Given the description of an element on the screen output the (x, y) to click on. 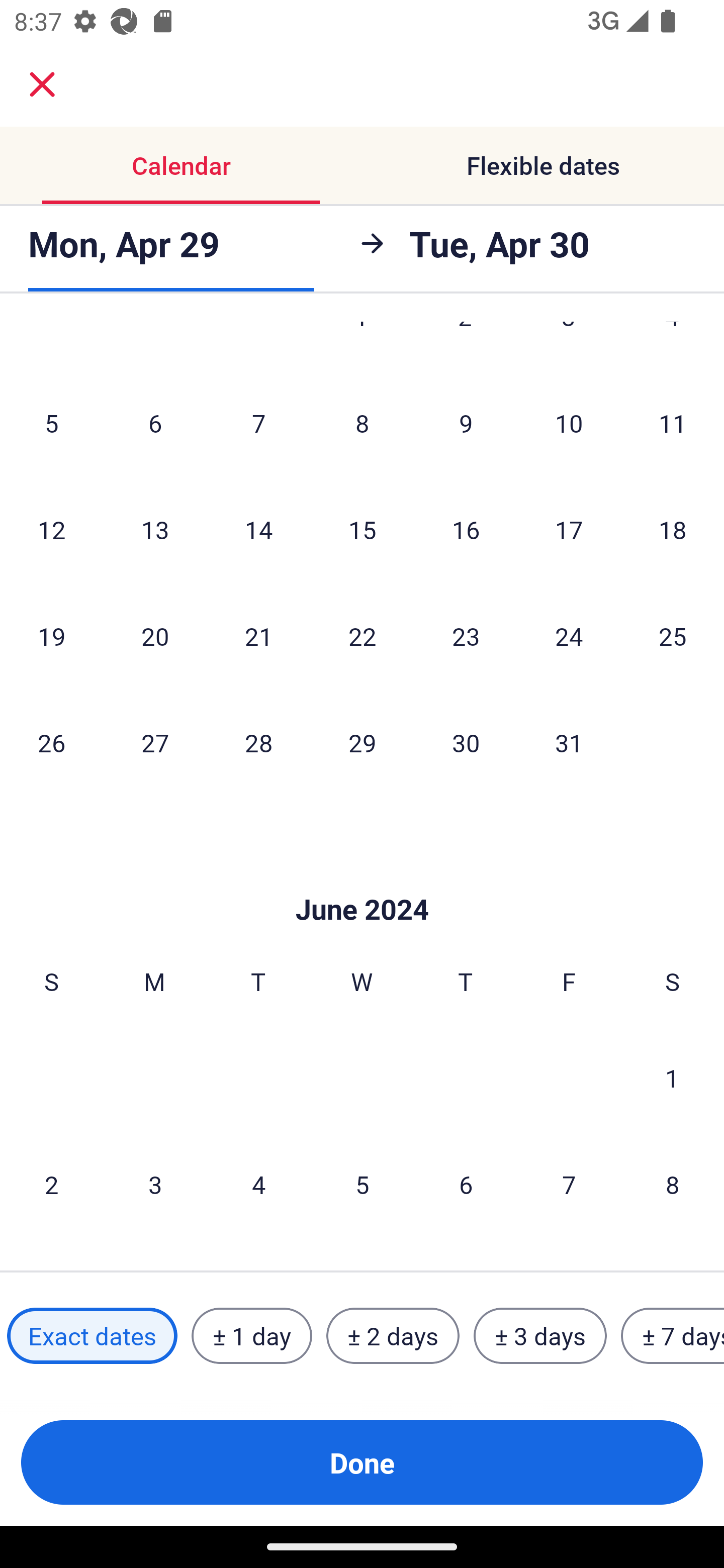
close. (42, 84)
Flexible dates (542, 164)
5 Sunday, May 5, 2024 (51, 423)
6 Monday, May 6, 2024 (155, 423)
7 Tuesday, May 7, 2024 (258, 423)
8 Wednesday, May 8, 2024 (362, 423)
9 Thursday, May 9, 2024 (465, 423)
10 Friday, May 10, 2024 (569, 423)
11 Saturday, May 11, 2024 (672, 423)
12 Sunday, May 12, 2024 (51, 529)
13 Monday, May 13, 2024 (155, 529)
14 Tuesday, May 14, 2024 (258, 529)
15 Wednesday, May 15, 2024 (362, 529)
16 Thursday, May 16, 2024 (465, 529)
17 Friday, May 17, 2024 (569, 529)
18 Saturday, May 18, 2024 (672, 529)
19 Sunday, May 19, 2024 (51, 635)
20 Monday, May 20, 2024 (155, 635)
21 Tuesday, May 21, 2024 (258, 635)
22 Wednesday, May 22, 2024 (362, 635)
23 Thursday, May 23, 2024 (465, 635)
24 Friday, May 24, 2024 (569, 635)
25 Saturday, May 25, 2024 (672, 635)
26 Sunday, May 26, 2024 (51, 742)
27 Monday, May 27, 2024 (155, 742)
28 Tuesday, May 28, 2024 (258, 742)
29 Wednesday, May 29, 2024 (362, 742)
30 Thursday, May 30, 2024 (465, 742)
31 Friday, May 31, 2024 (569, 742)
Skip to Done (362, 879)
1 Saturday, June 1, 2024 (672, 1076)
2 Sunday, June 2, 2024 (51, 1183)
3 Monday, June 3, 2024 (155, 1183)
4 Tuesday, June 4, 2024 (258, 1183)
5 Wednesday, June 5, 2024 (362, 1183)
6 Thursday, June 6, 2024 (465, 1183)
7 Friday, June 7, 2024 (569, 1183)
8 Saturday, June 8, 2024 (672, 1183)
Exact dates (92, 1335)
± 1 day (251, 1335)
± 2 days (392, 1335)
± 3 days (539, 1335)
± 7 days (672, 1335)
Done (361, 1462)
